Given the description of an element on the screen output the (x, y) to click on. 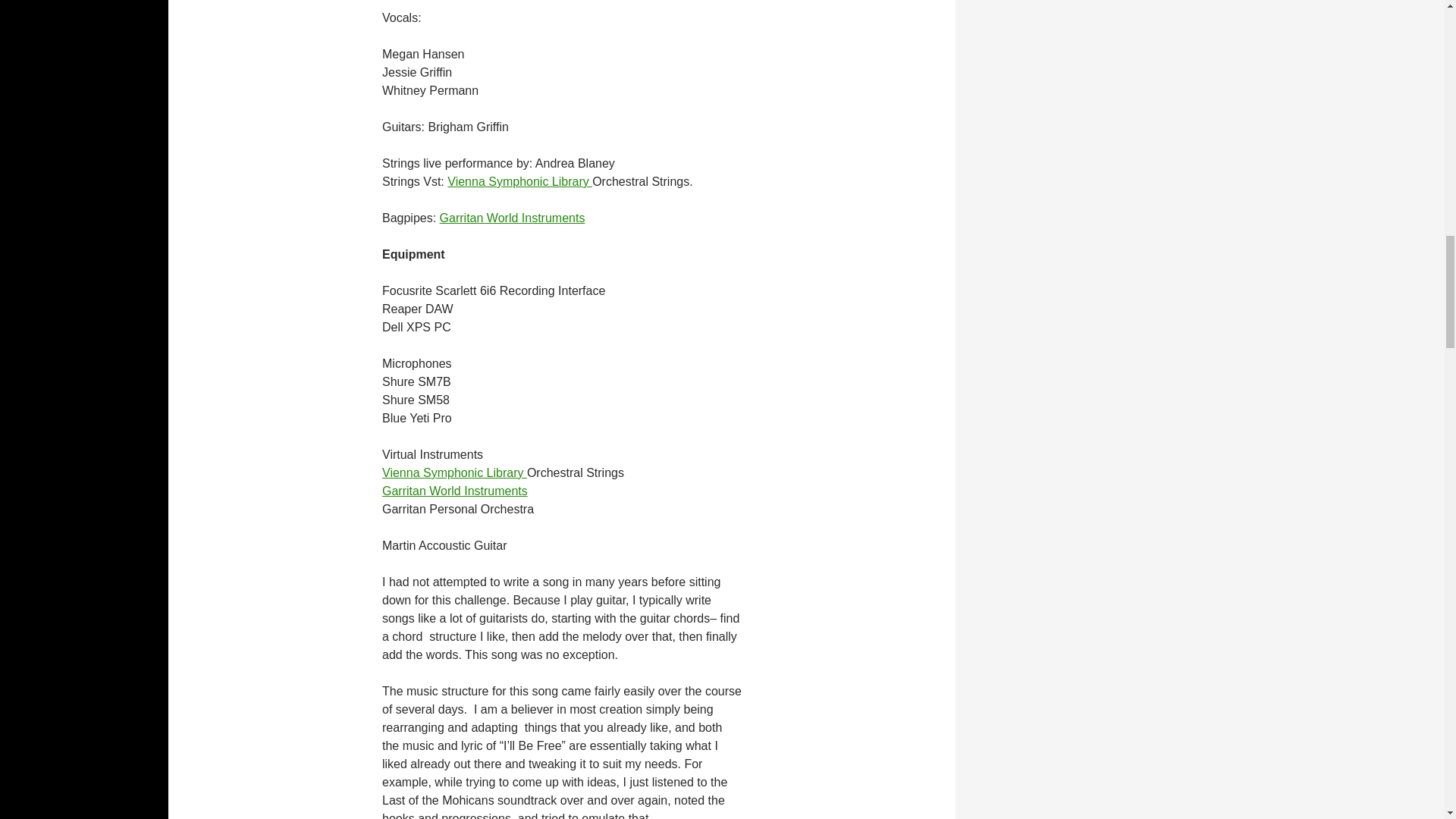
Vienna Instruments (454, 472)
Vienna Symphonic Library (519, 181)
Garritan World Instruments (512, 217)
Garritan World Instruments (454, 490)
Vienna Symphonic Library (454, 472)
Vienna Instruments (519, 181)
